Given the description of an element on the screen output the (x, y) to click on. 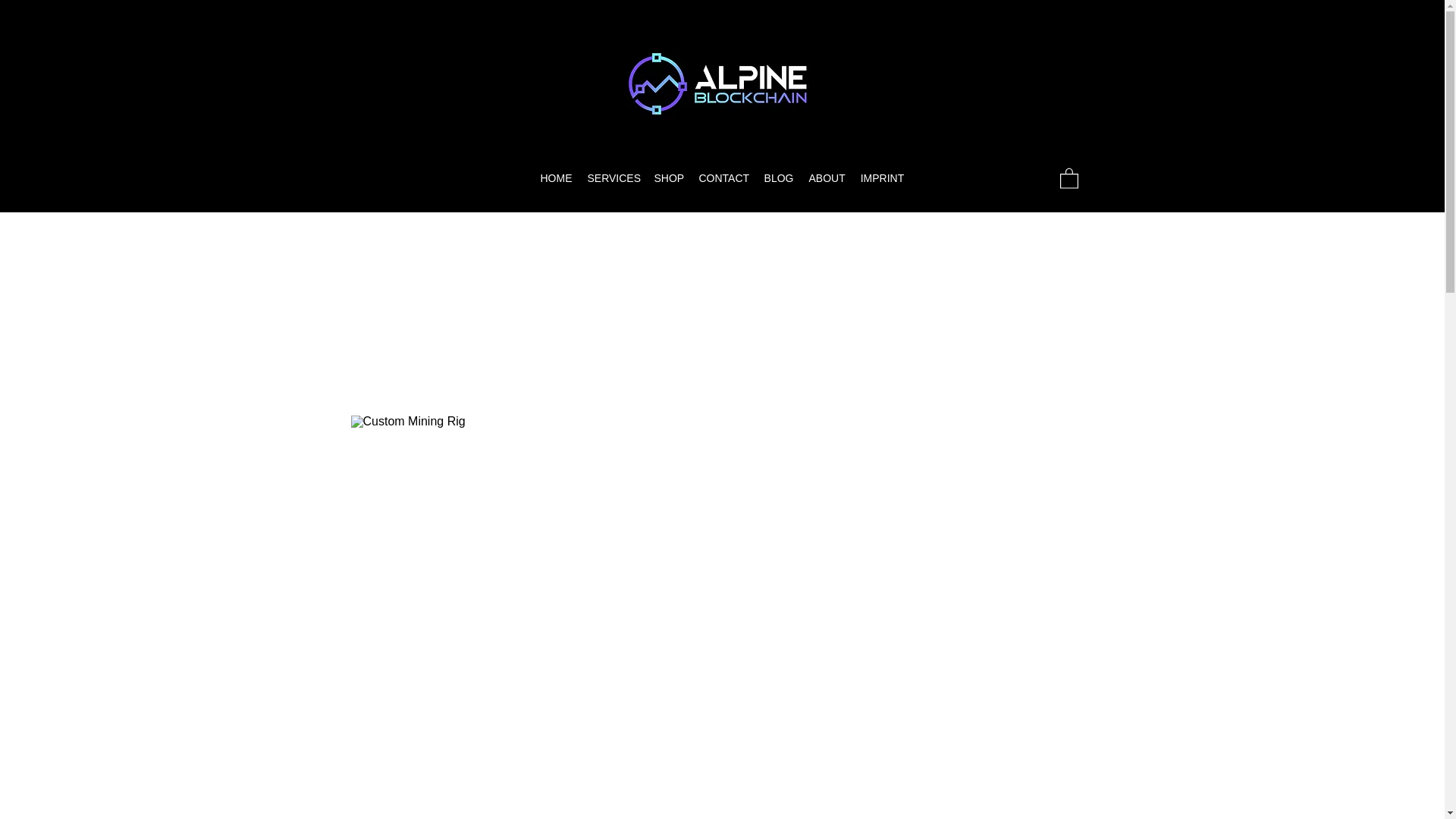
SERVICES (612, 178)
BLOG (779, 178)
IMPRINT (881, 178)
ABOUT (825, 178)
SHOP (668, 178)
HOME (555, 178)
CONTACT (724, 178)
